Given the description of an element on the screen output the (x, y) to click on. 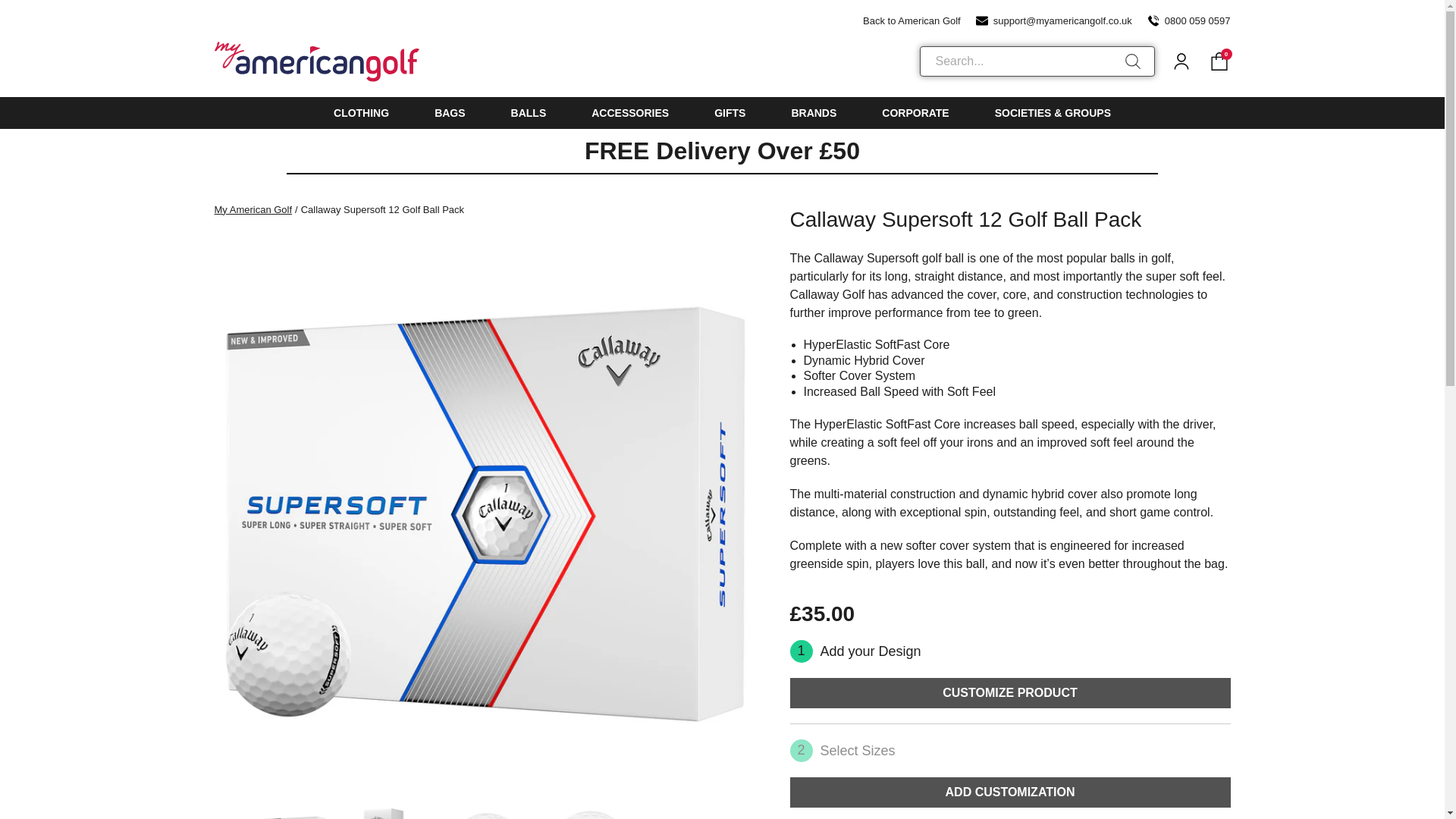
ACCESSORIES (629, 112)
0800 059 0597 (1188, 20)
ADD CUSTOMIZATION (1010, 792)
Back to American Golf (902, 20)
0 (1218, 60)
BALLS (529, 112)
CORPORATE (915, 112)
My American Golf (256, 209)
CUSTOMIZE PRODUCT (1010, 693)
prev (221, 812)
